Given the description of an element on the screen output the (x, y) to click on. 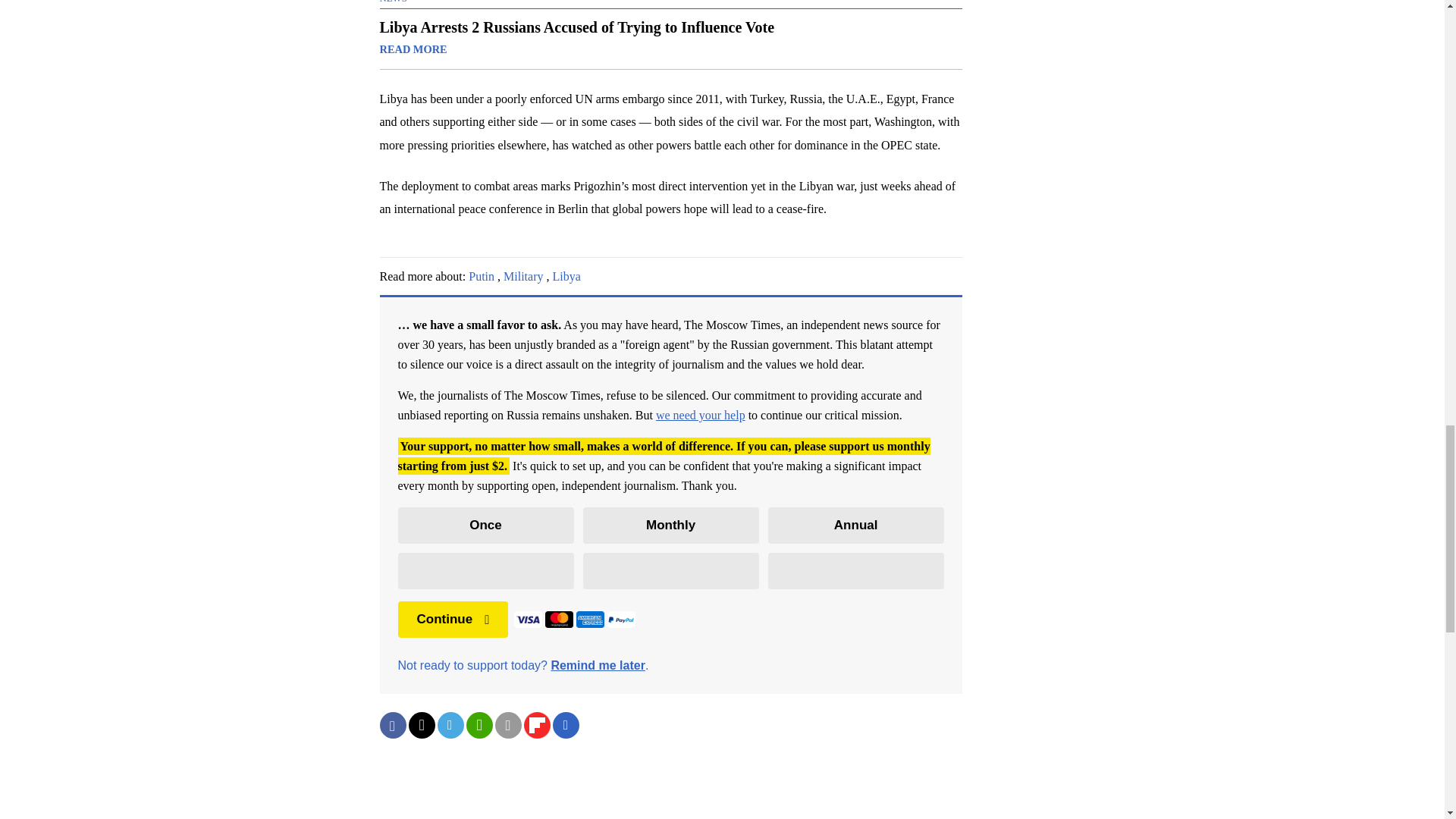
Libya (565, 276)
Share on Twitter (420, 724)
Libya Arrests 2 Russians Accused of Trying to Influence Vote (669, 38)
we need your help (700, 414)
Share on Facebook (392, 724)
Share on Telegram (449, 724)
Putin (481, 276)
Military (523, 276)
